Given the description of an element on the screen output the (x, y) to click on. 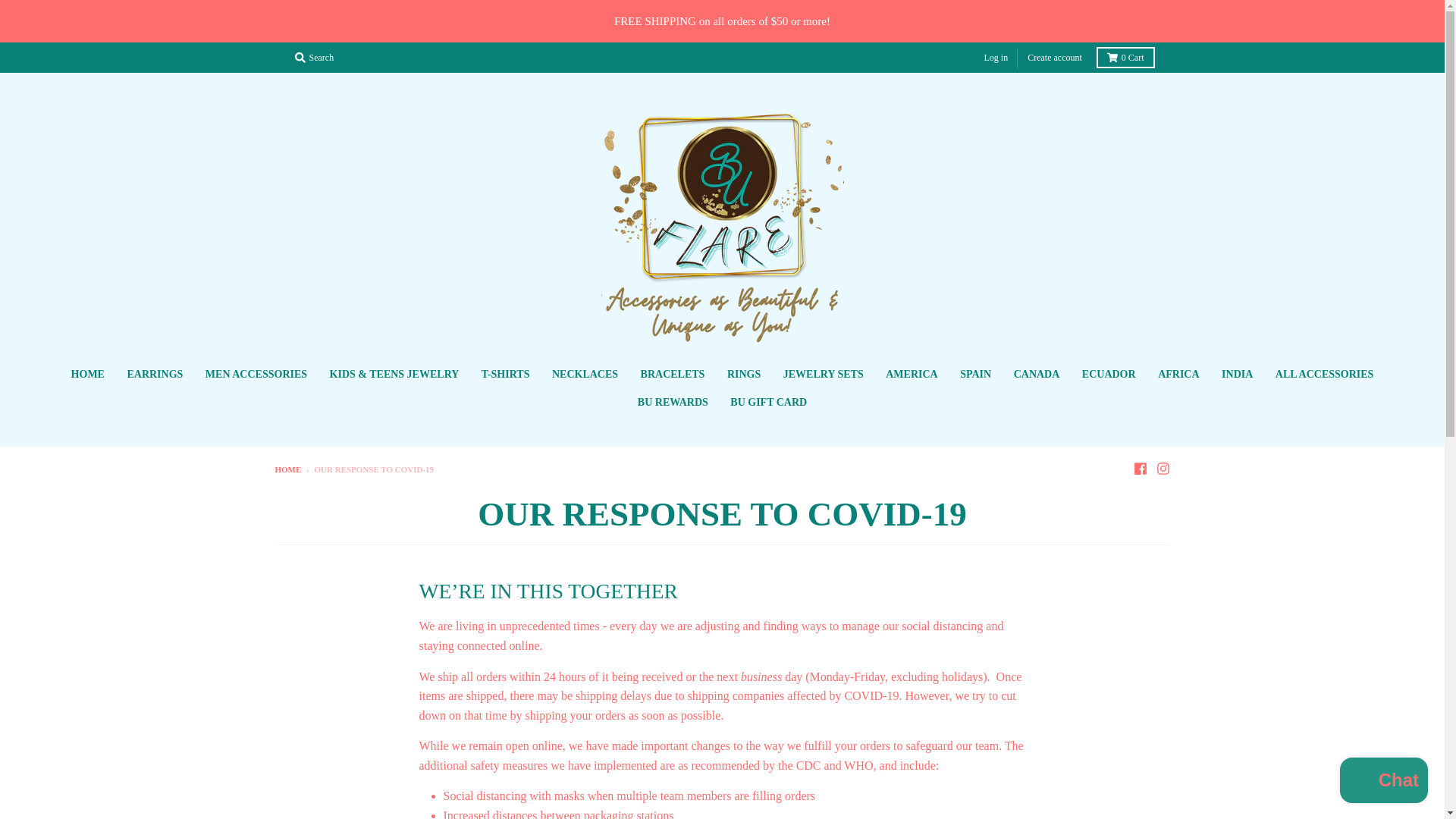
T-SHIRTS (505, 374)
ALL ACCESSORIES (1324, 374)
ECUADOR (1108, 374)
JEWELRY SETS (823, 374)
BU REWARDS (672, 402)
NECKLACES (584, 374)
Log in (996, 57)
RINGS (743, 374)
AMERICA (911, 374)
EARRINGS (154, 374)
